Given the description of an element on the screen output the (x, y) to click on. 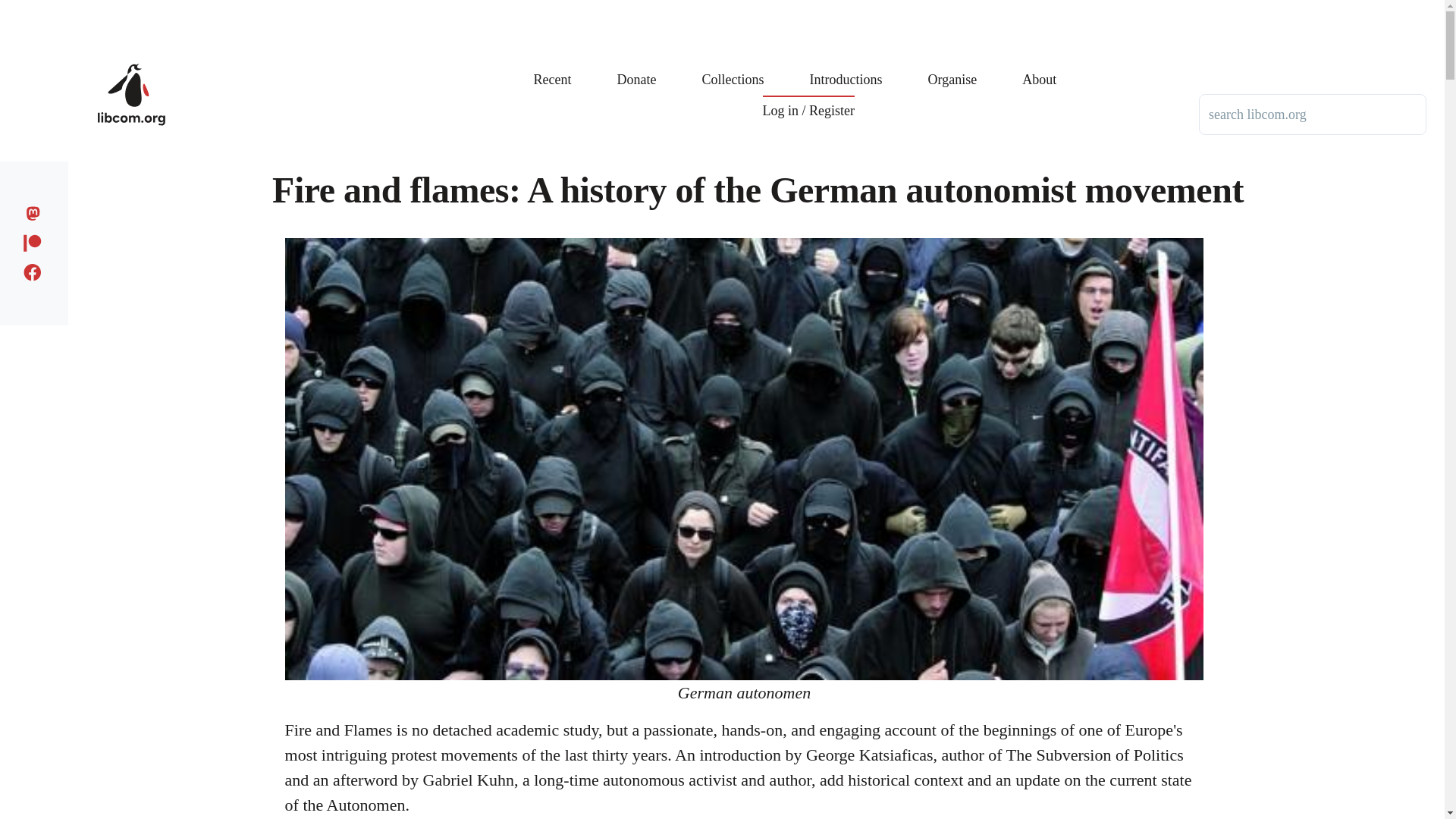
Collections (732, 68)
Support us on patreon (36, 239)
Follow us on Mastodon (36, 210)
Skip to main content (595, 6)
Like us on facebook (36, 269)
Organise (952, 68)
Introductions (845, 68)
